Given the description of an element on the screen output the (x, y) to click on. 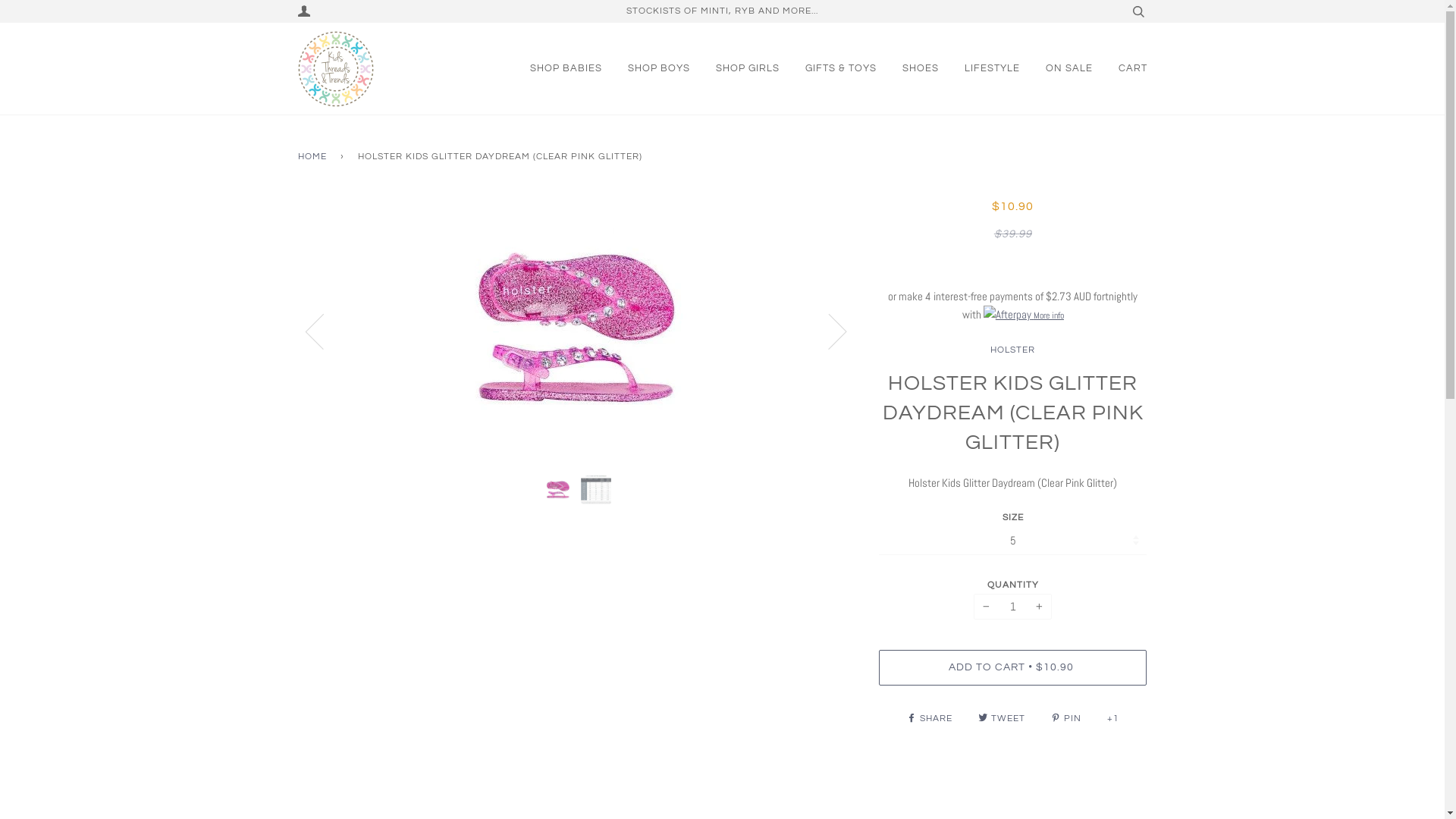
GIFTS & TOYS Element type: text (840, 68)
More info Element type: text (1023, 314)
ON SALE Element type: text (1068, 68)
SHARE Element type: text (930, 718)
Next Element type: text (828, 330)
CART Element type: text (1131, 68)
LIFESTYLE Element type: text (991, 68)
+1 Element type: text (1113, 718)
+ Element type: text (1038, 605)
SHOP GIRLS Element type: text (747, 68)
TWEET Element type: text (1003, 718)
HOME Element type: text (314, 156)
SHOP BABIES Element type: text (565, 68)
PIN Element type: text (1067, 718)
Previous Element type: text (322, 330)
SHOP BOYS Element type: text (658, 68)
HOLSTER Element type: text (1012, 349)
SHOES Element type: text (920, 68)
